Given the description of an element on the screen output the (x, y) to click on. 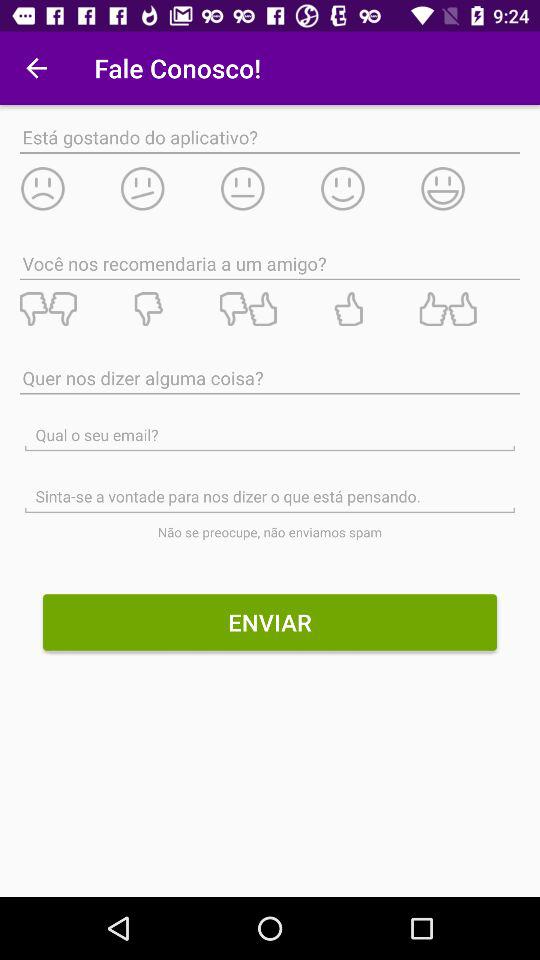
rate as neutral (269, 188)
